Given the description of an element on the screen output the (x, y) to click on. 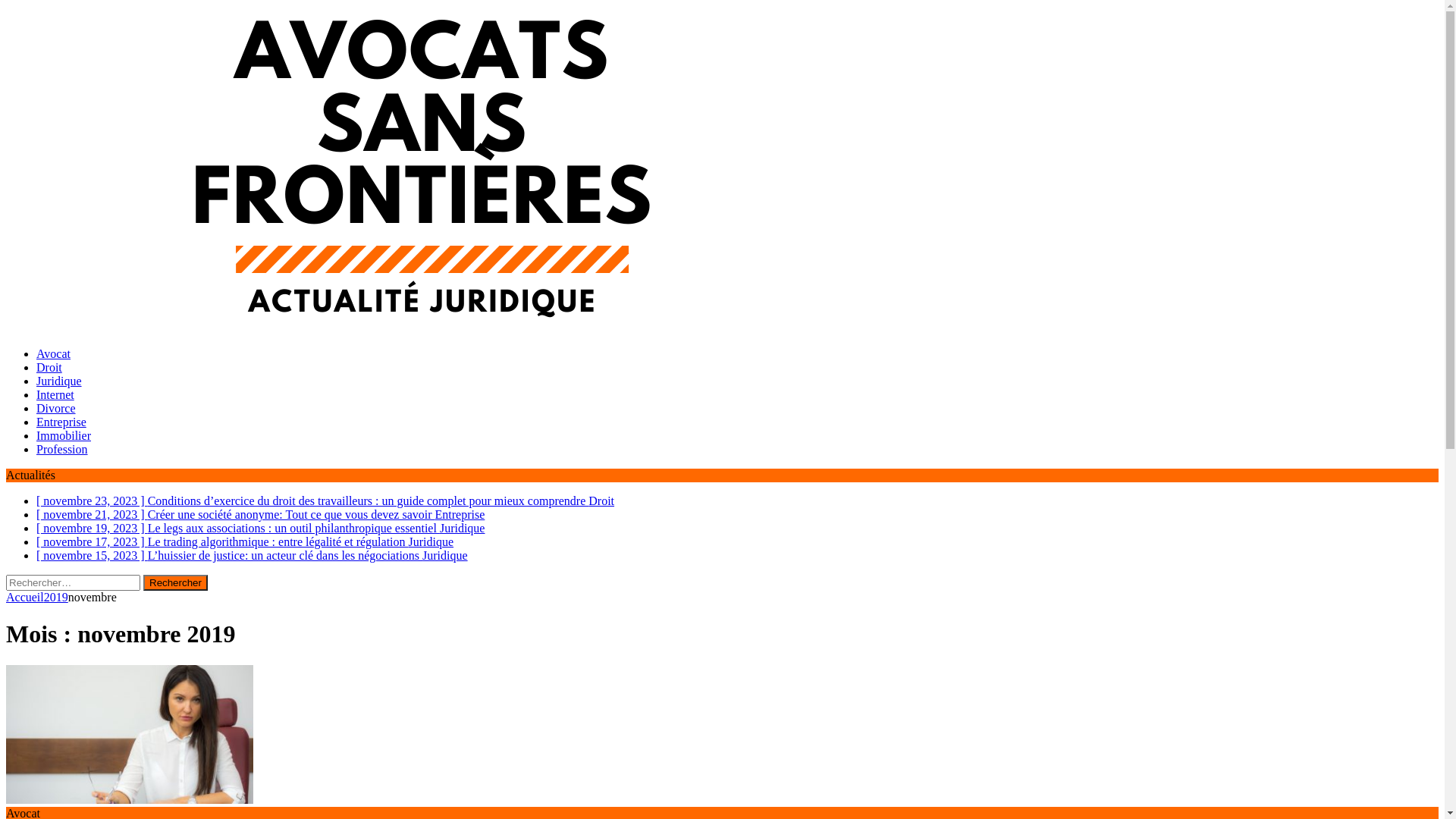
Internet Element type: text (55, 394)
Rechercher Element type: text (175, 582)
Immobilier Element type: text (63, 435)
Accueil Element type: text (24, 596)
2019 Element type: text (55, 596)
Avocat Element type: text (53, 353)
Divorce Element type: text (55, 407)
Juridique Element type: text (58, 380)
Profession Element type: text (61, 448)
Droit Element type: text (49, 366)
Entreprise Element type: text (61, 421)
